Given the description of an element on the screen output the (x, y) to click on. 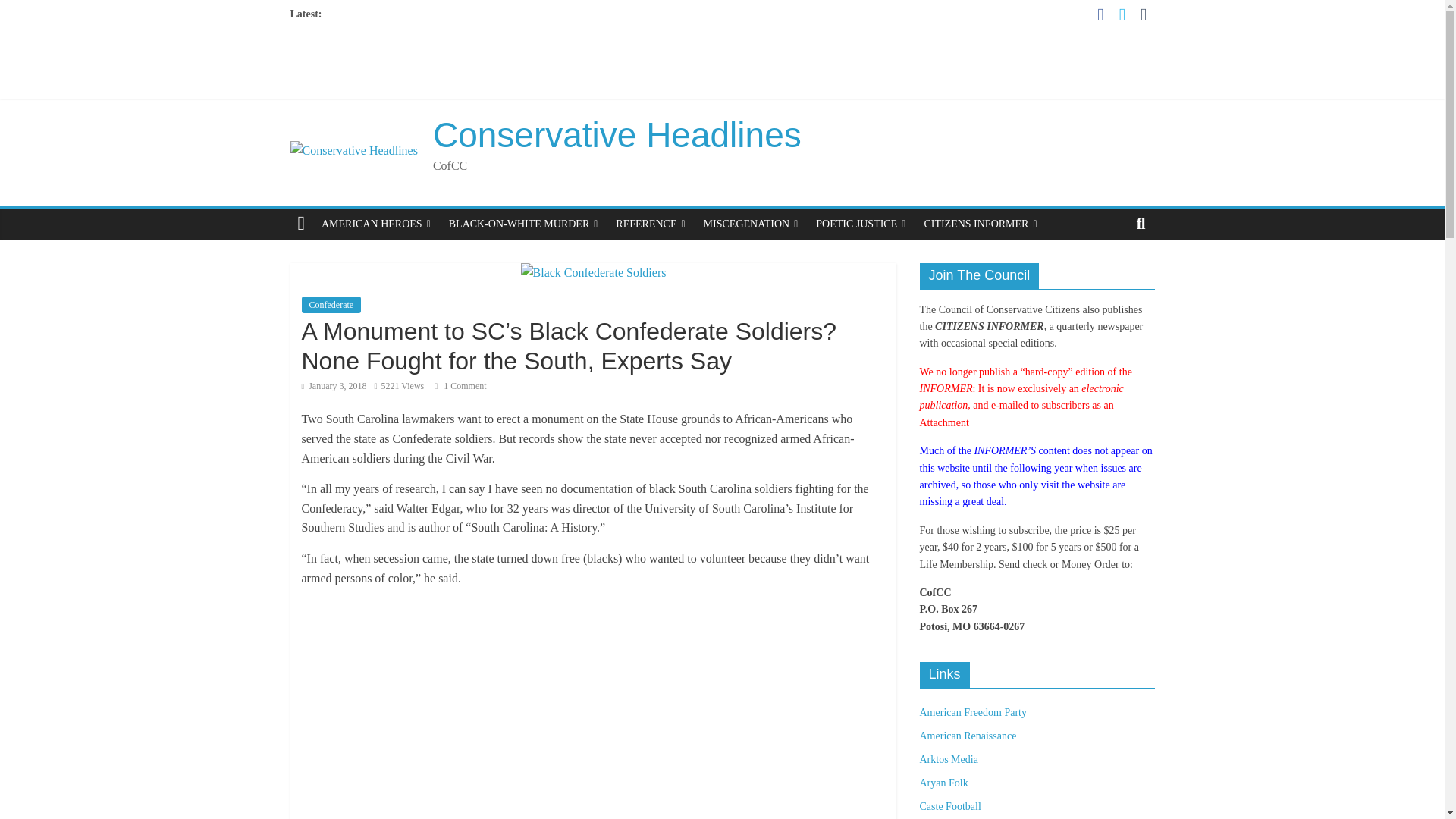
Social Media for Europeans (943, 782)
A political party for European Americans (972, 712)
Conservative Headlines (617, 134)
6:43 am (333, 385)
REFERENCE (650, 224)
MISCEGENATION (751, 224)
Conservative Headlines (617, 134)
AMERICAN HEROES (376, 224)
BLACK-ON-WHITE MURDER (523, 224)
